Given the description of an element on the screen output the (x, y) to click on. 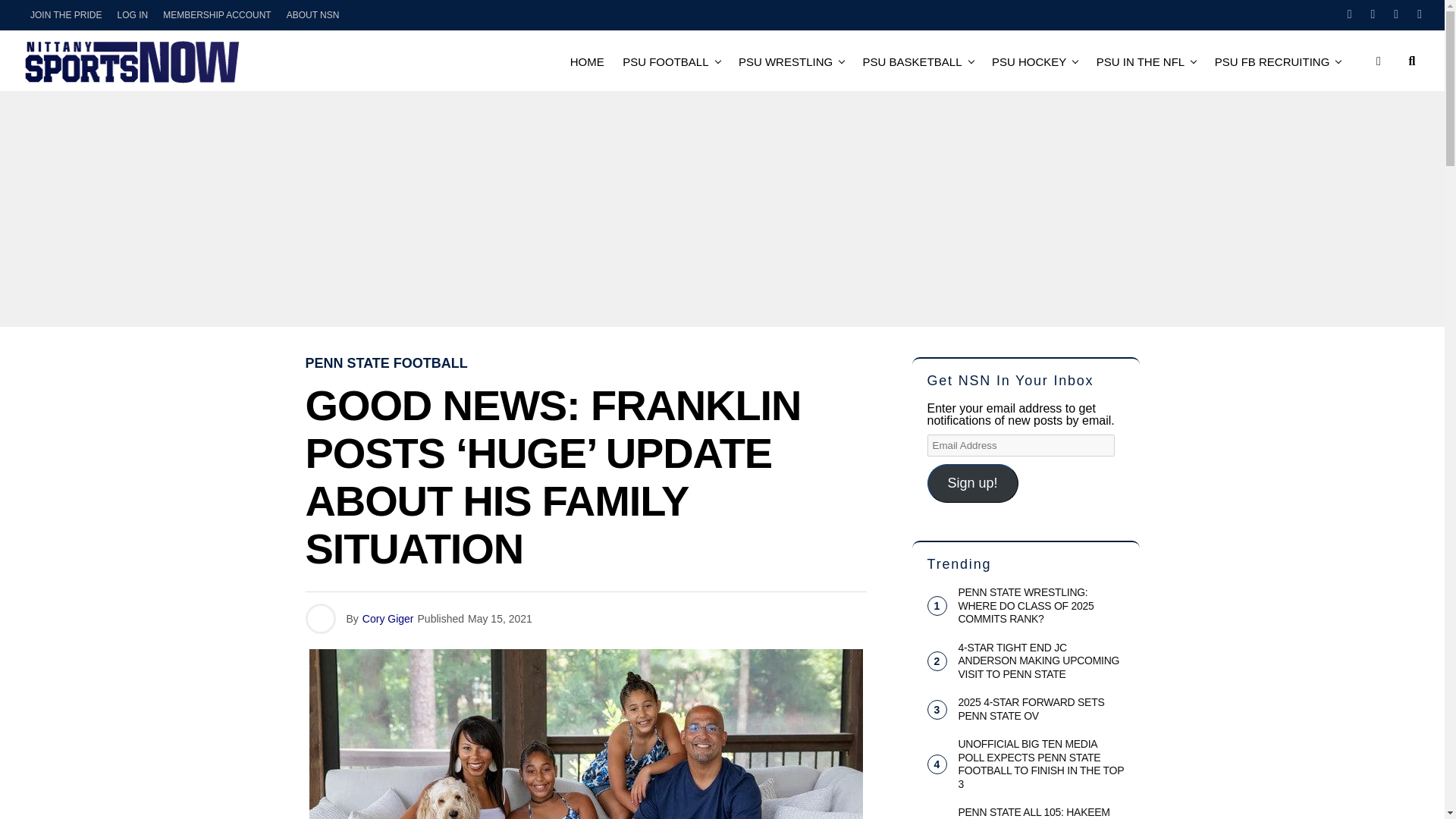
JOIN THE PRIDE (66, 15)
PSU FOOTBALL (665, 61)
PSU WRESTLING (785, 61)
ABOUT NSN (313, 15)
LOG IN (132, 15)
Posts by Cory Giger (387, 618)
MEMBERSHIP ACCOUNT (216, 15)
